Given the description of an element on the screen output the (x, y) to click on. 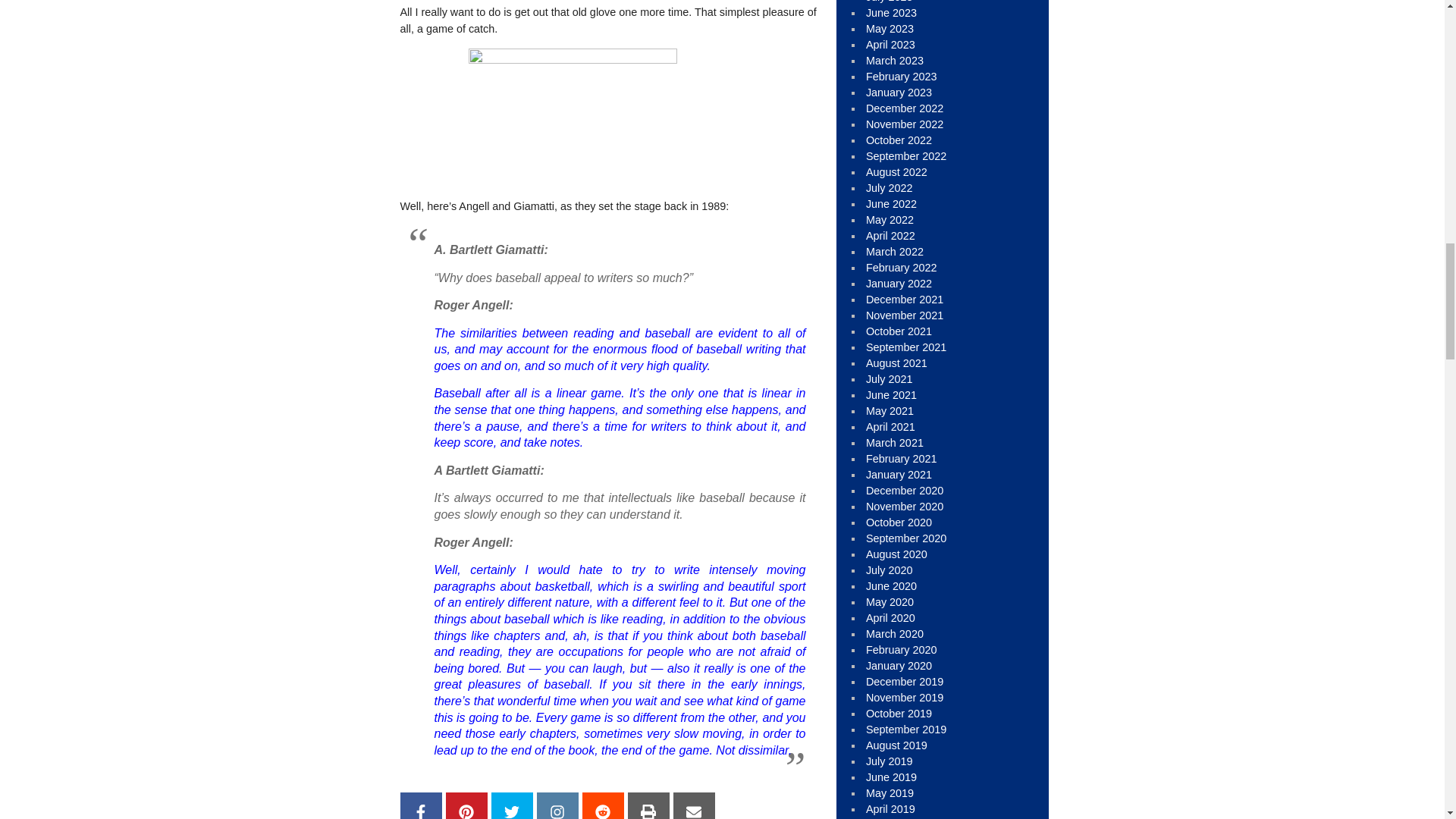
images-1 (572, 117)
